Given the description of an element on the screen output the (x, y) to click on. 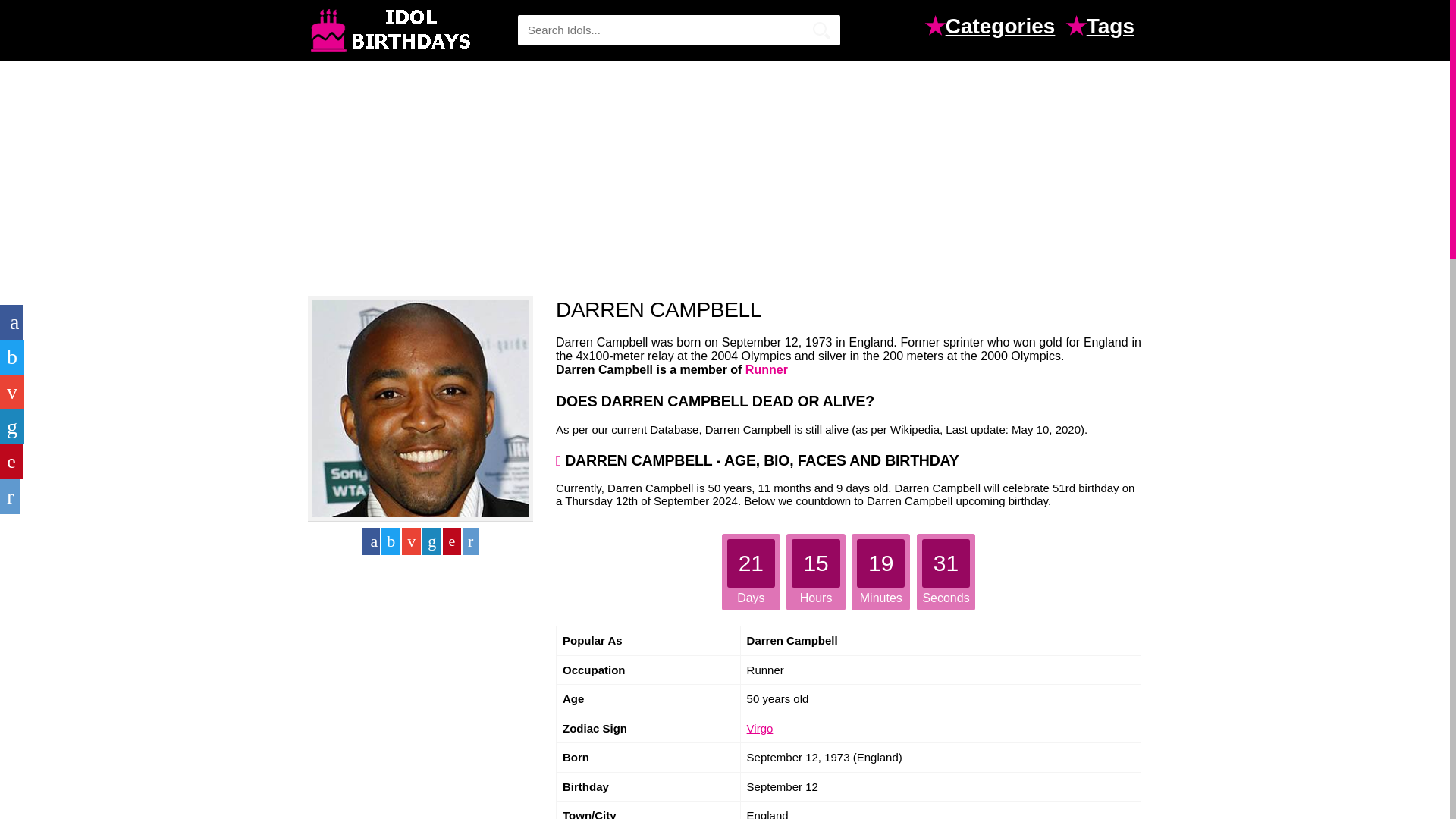
Categories (1003, 28)
Tags (1113, 28)
Darren Campbell (420, 407)
SEARCH (820, 30)
Tags (1113, 28)
